Given the description of an element on the screen output the (x, y) to click on. 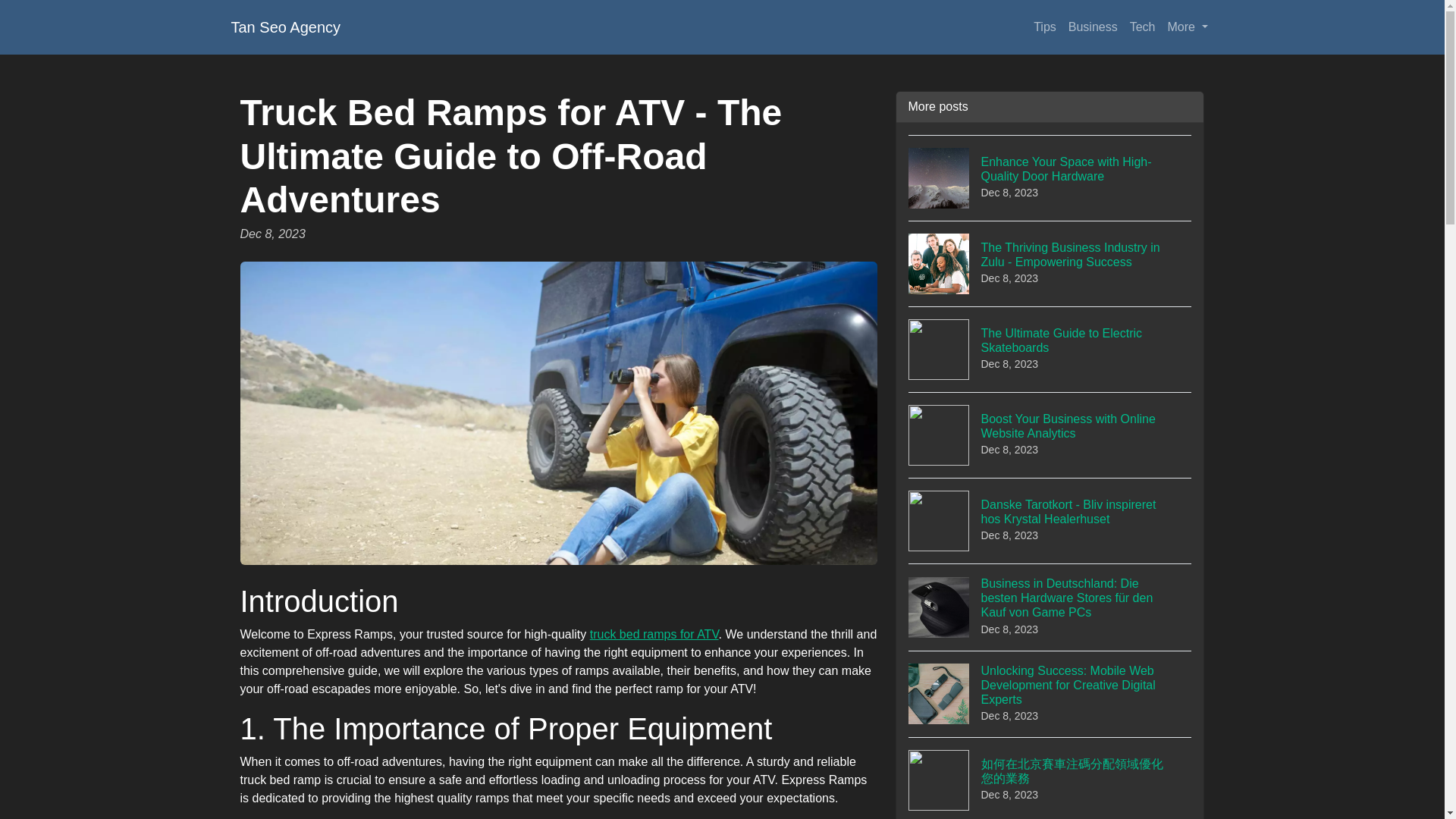
Tan Seo Agency (285, 27)
truck bed ramps for ATV (654, 634)
Tips (1044, 27)
Business (1093, 27)
Tech (1050, 349)
